Given the description of an element on the screen output the (x, y) to click on. 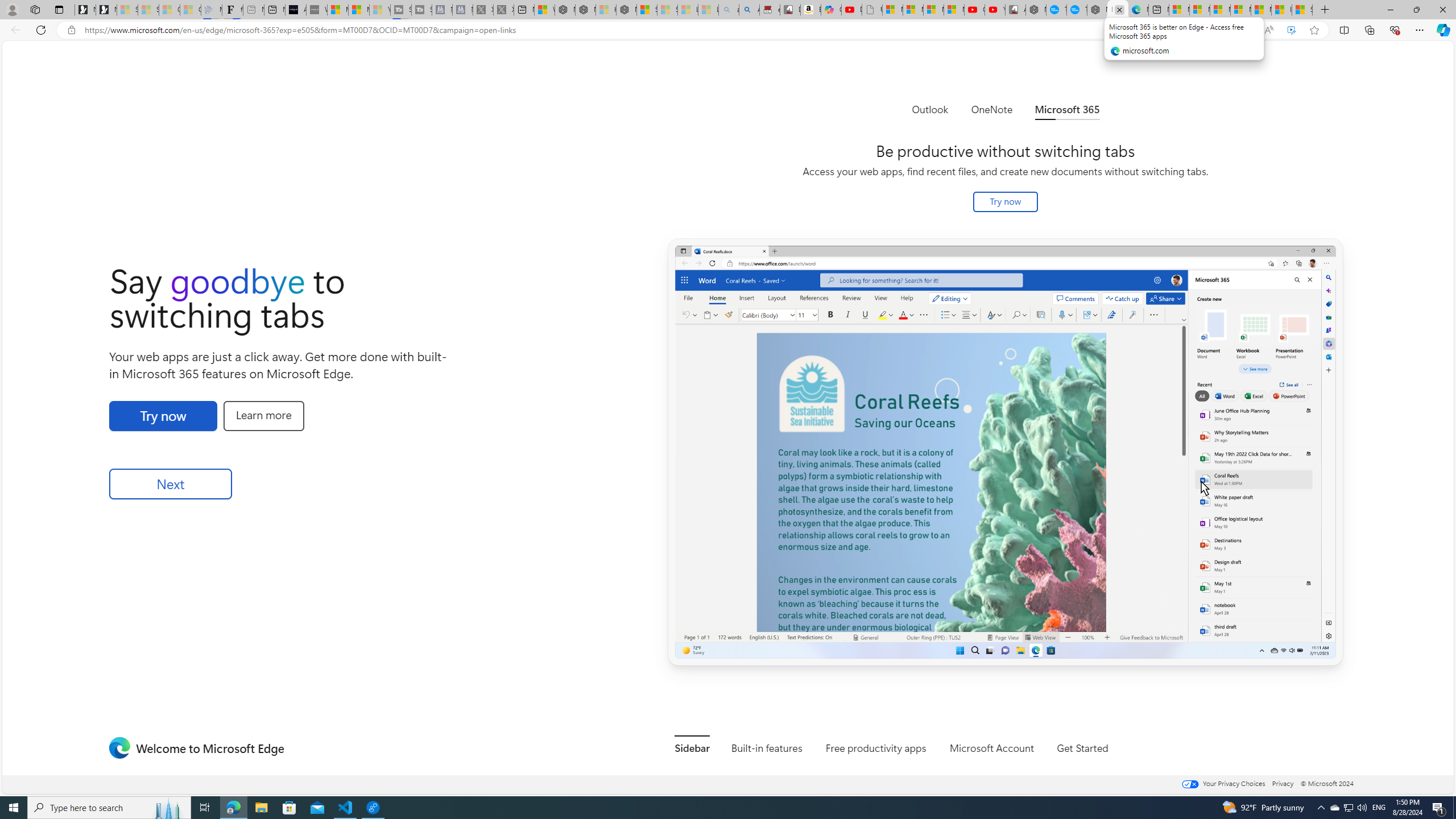
Wildlife - MSN (544, 9)
Streaming Coverage | T3 - Sleeping (400, 9)
Newsletter Sign Up (106, 9)
The most popular Google 'how to' searches (1076, 9)
Copilot (Ctrl+Shift+.) (1442, 29)
YouTube Kids - An App Created for Kids to Explore Content (994, 9)
Restore (1416, 9)
Nordace - Summer Adventures 2024 (584, 9)
Personal Profile (12, 9)
X - Sleeping (503, 9)
Split screen (1344, 29)
AI Voice Changer for PC and Mac - Voice.ai (296, 9)
Enhance video (1291, 29)
